Given the description of an element on the screen output the (x, y) to click on. 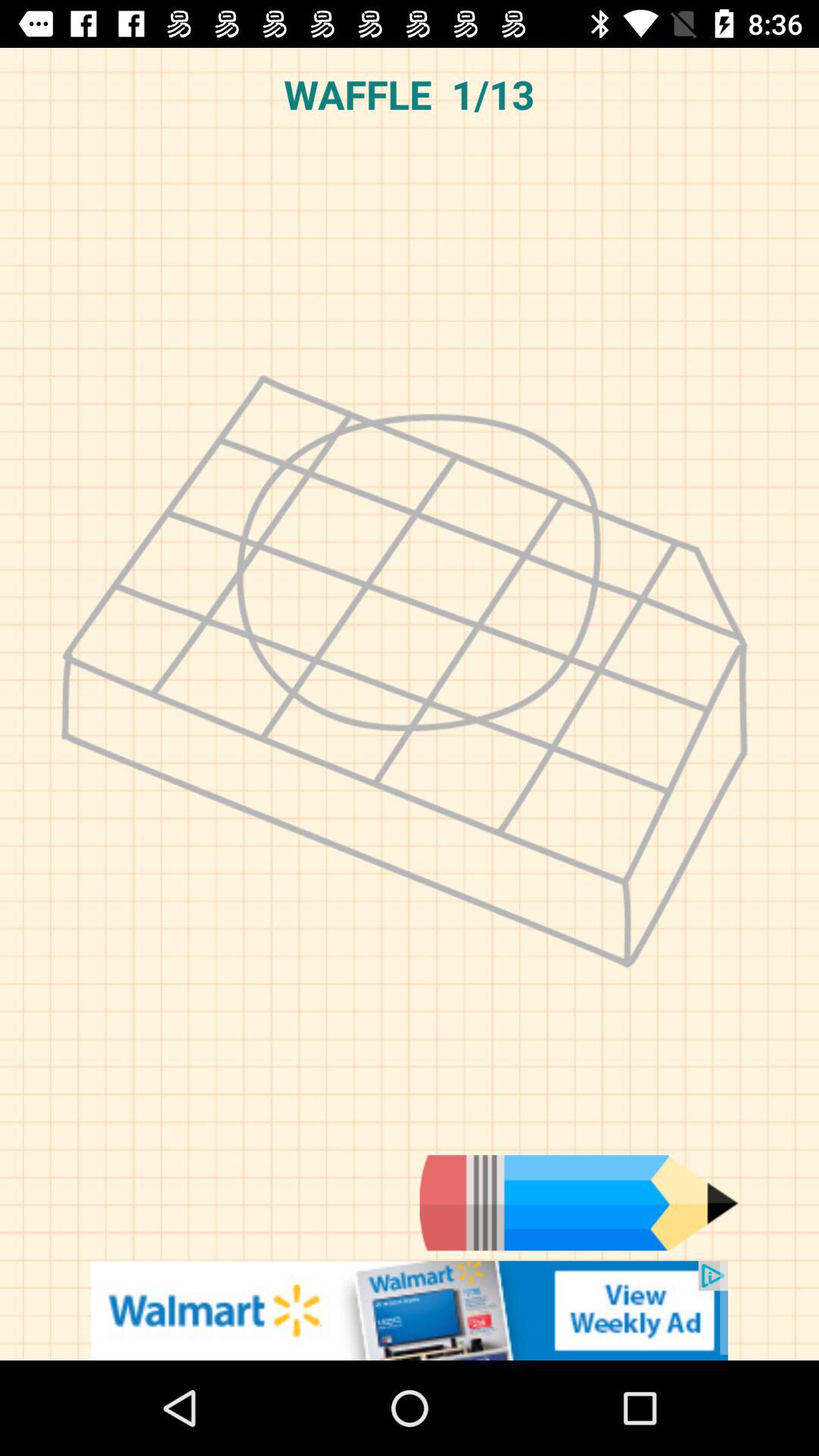
add icone (409, 1310)
